Given the description of an element on the screen output the (x, y) to click on. 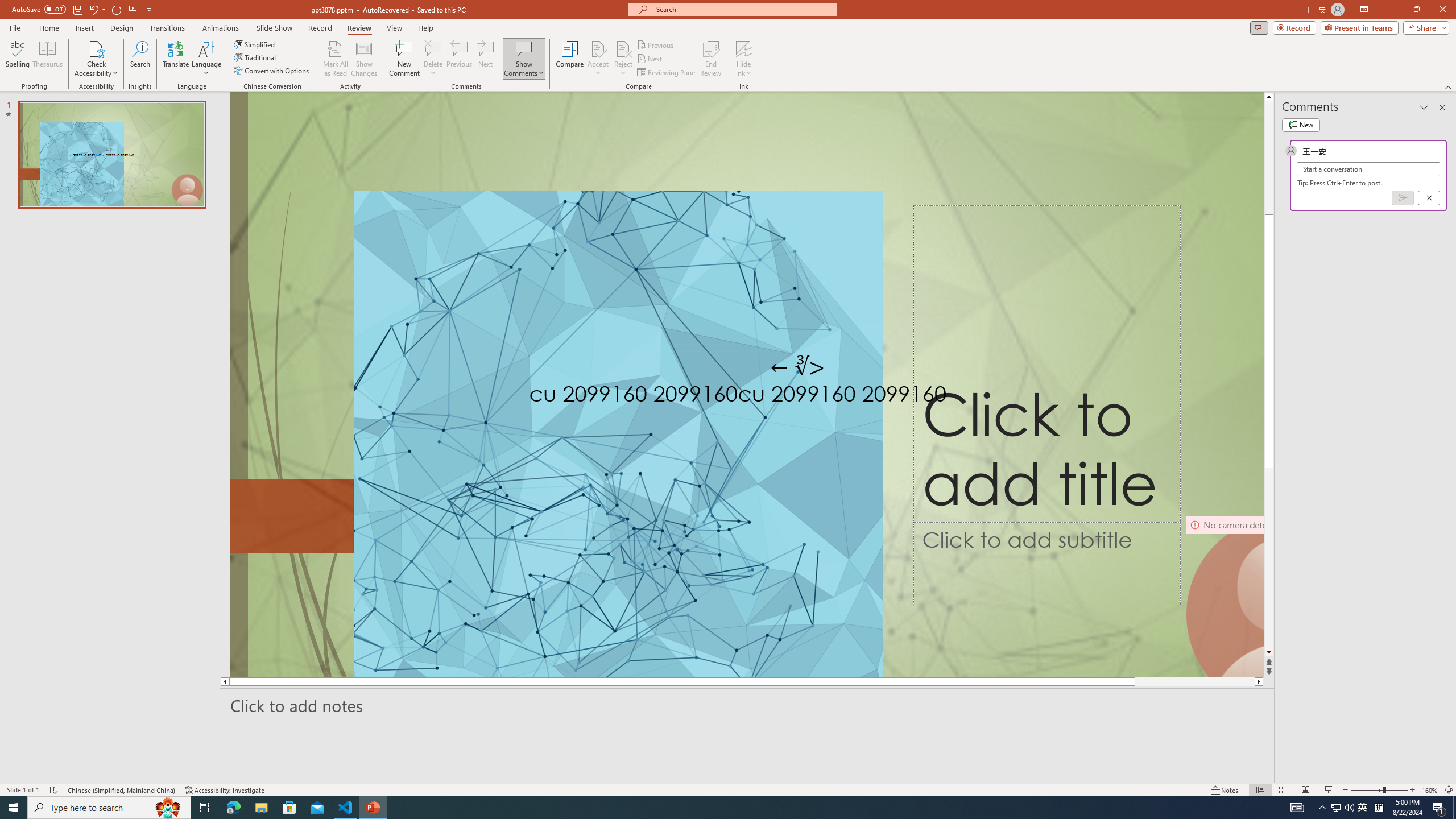
Slide Notes (746, 705)
